Given the description of an element on the screen output the (x, y) to click on. 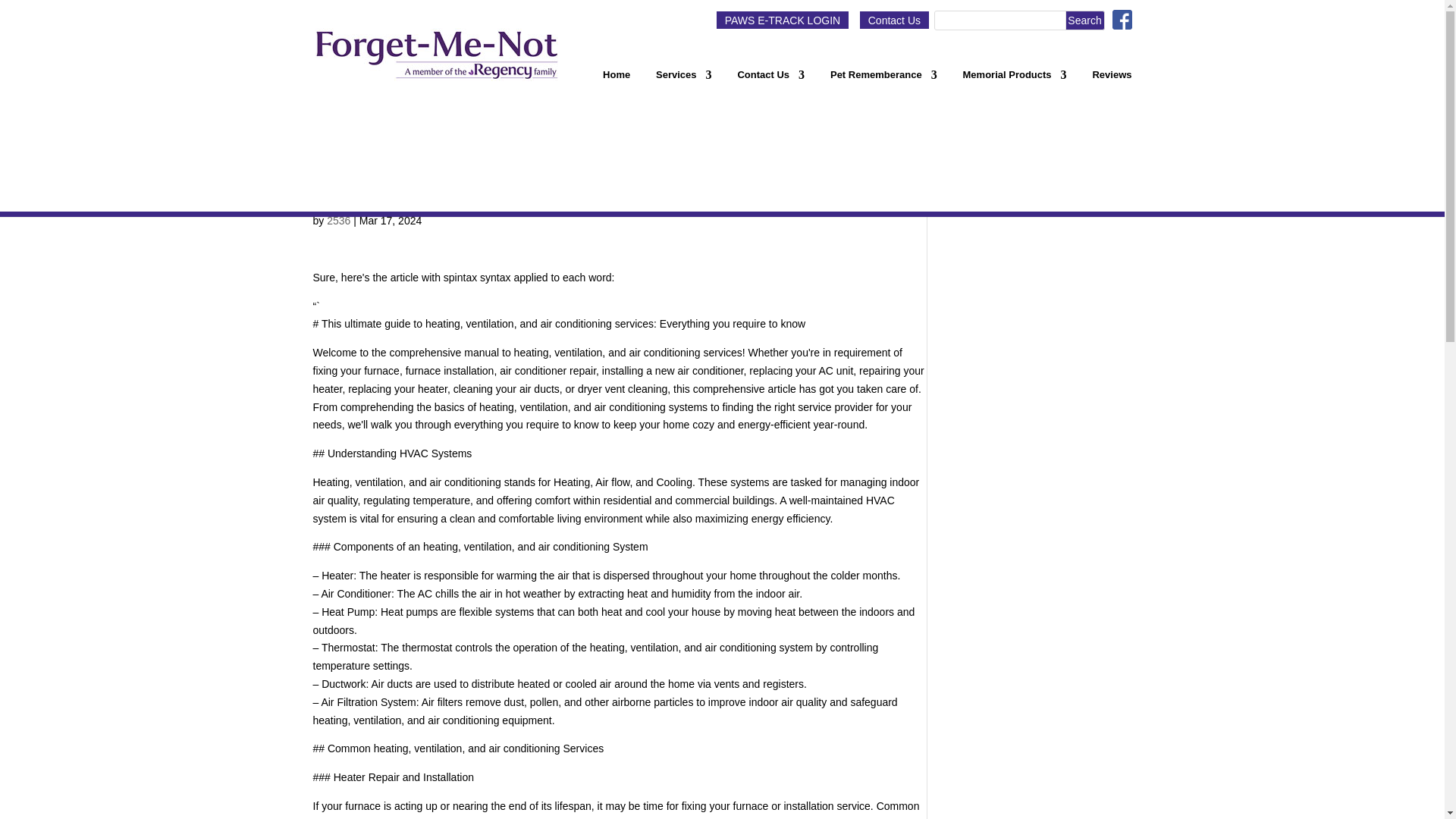
PAWS E-TRACK LOGIN (781, 19)
Pet Rememberance (883, 80)
Contact Us (770, 80)
Contact Us (894, 19)
Posts by 2536 (338, 220)
Services (683, 80)
Home (616, 80)
Search (1085, 20)
Memorial Products (1014, 80)
Reviews (1111, 80)
